Given the description of an element on the screen output the (x, y) to click on. 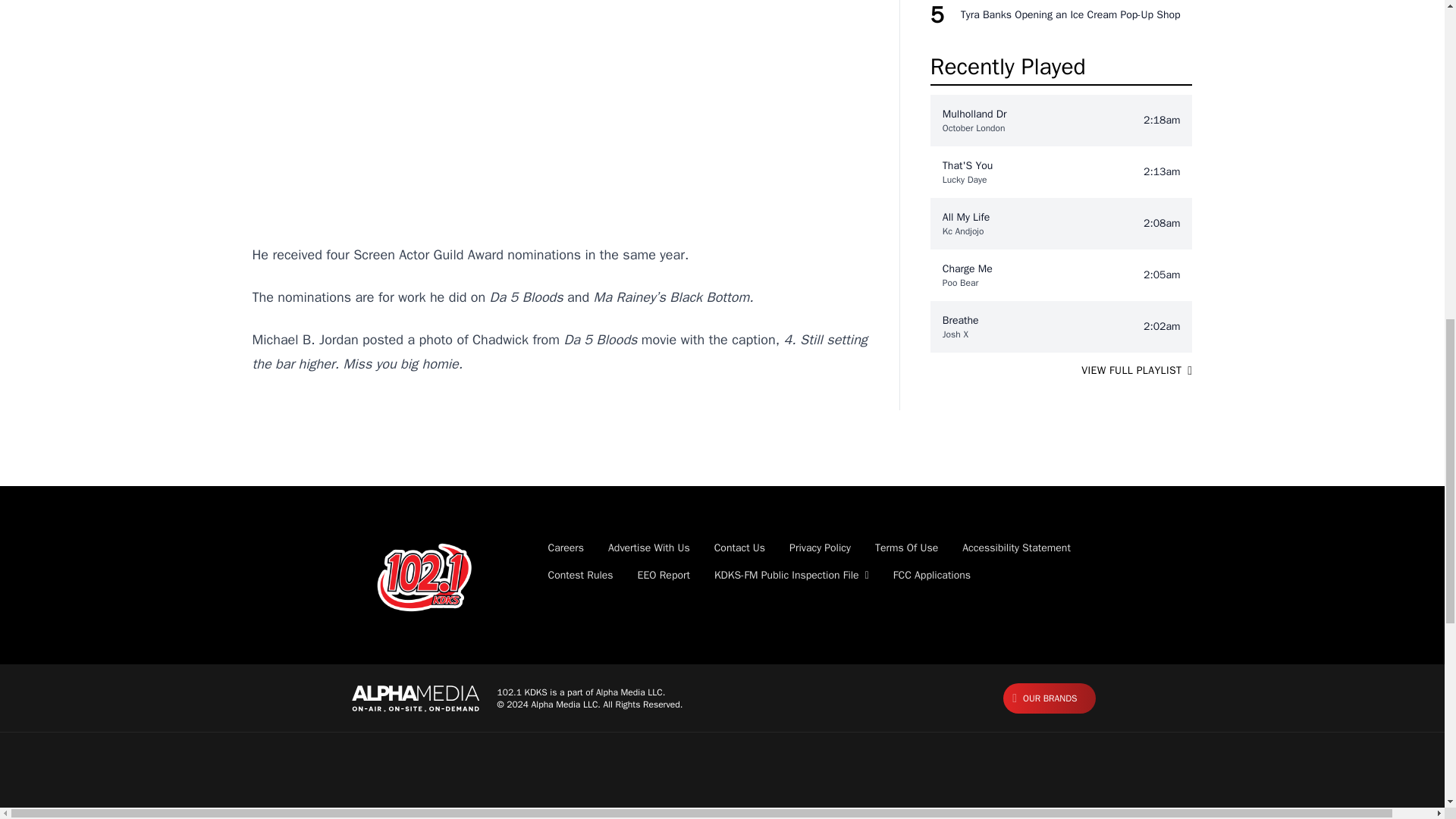
3rd party ad content (560, 117)
